Given the description of an element on the screen output the (x, y) to click on. 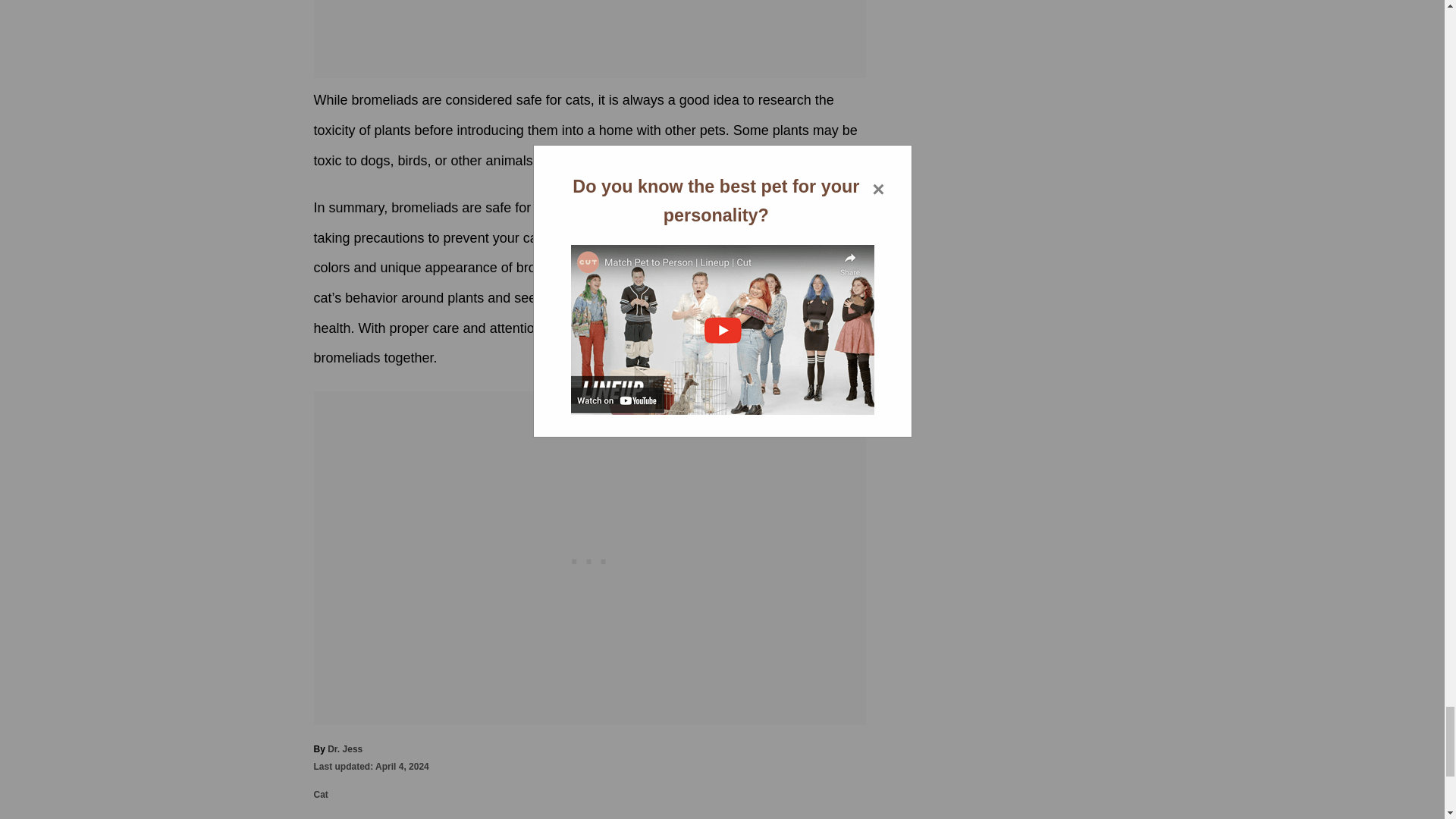
Cat (321, 794)
Dr. Jess (344, 748)
